Given the description of an element on the screen output the (x, y) to click on. 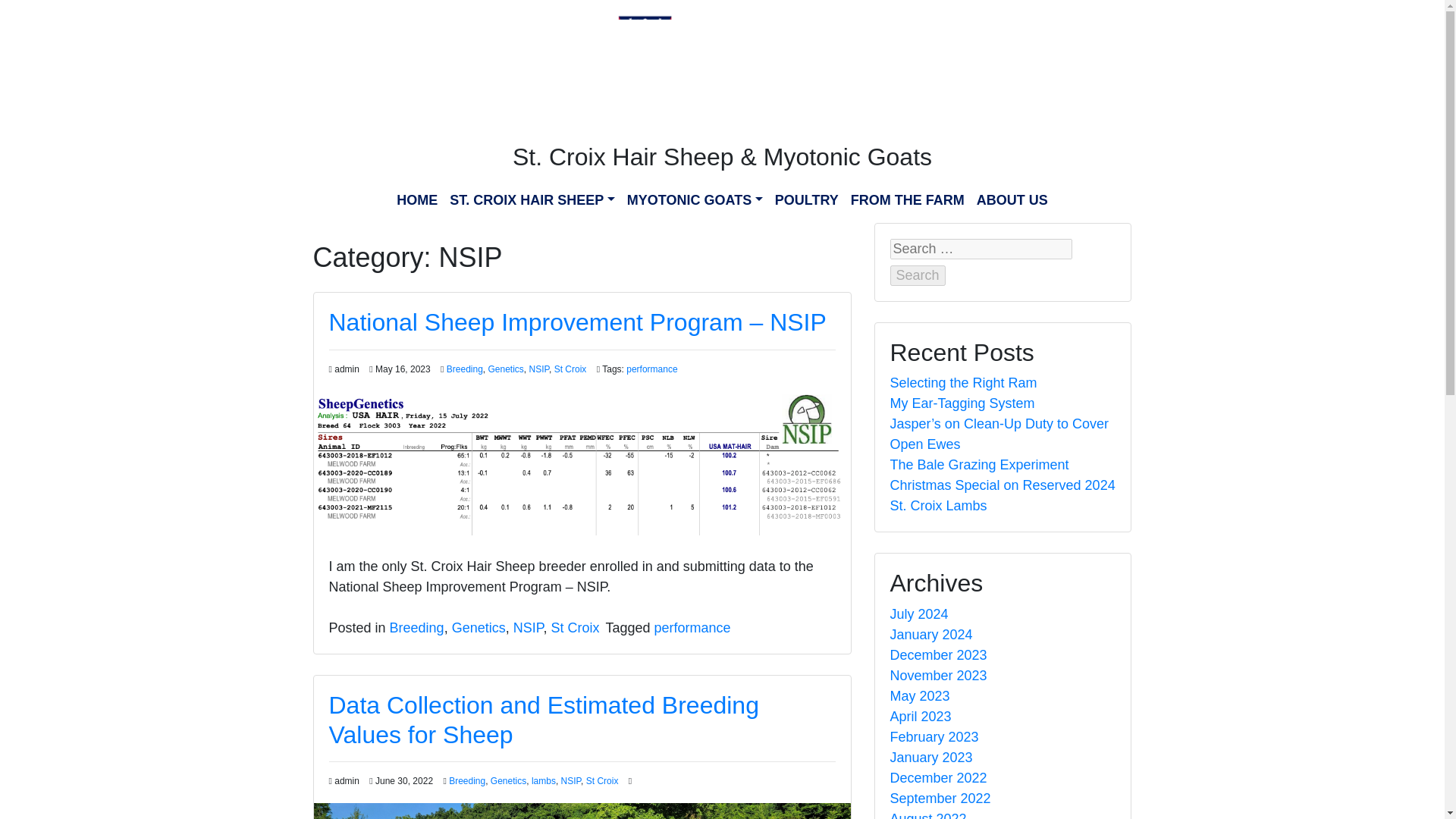
Breeding (466, 780)
performance (651, 368)
Data Collection and Estimated Breeding Values for Sheep (543, 719)
Breeding (464, 368)
HOME (417, 200)
NSIP (538, 368)
St Croix (574, 627)
Genetics (478, 627)
St Croix (570, 368)
Search (916, 275)
